Given the description of an element on the screen output the (x, y) to click on. 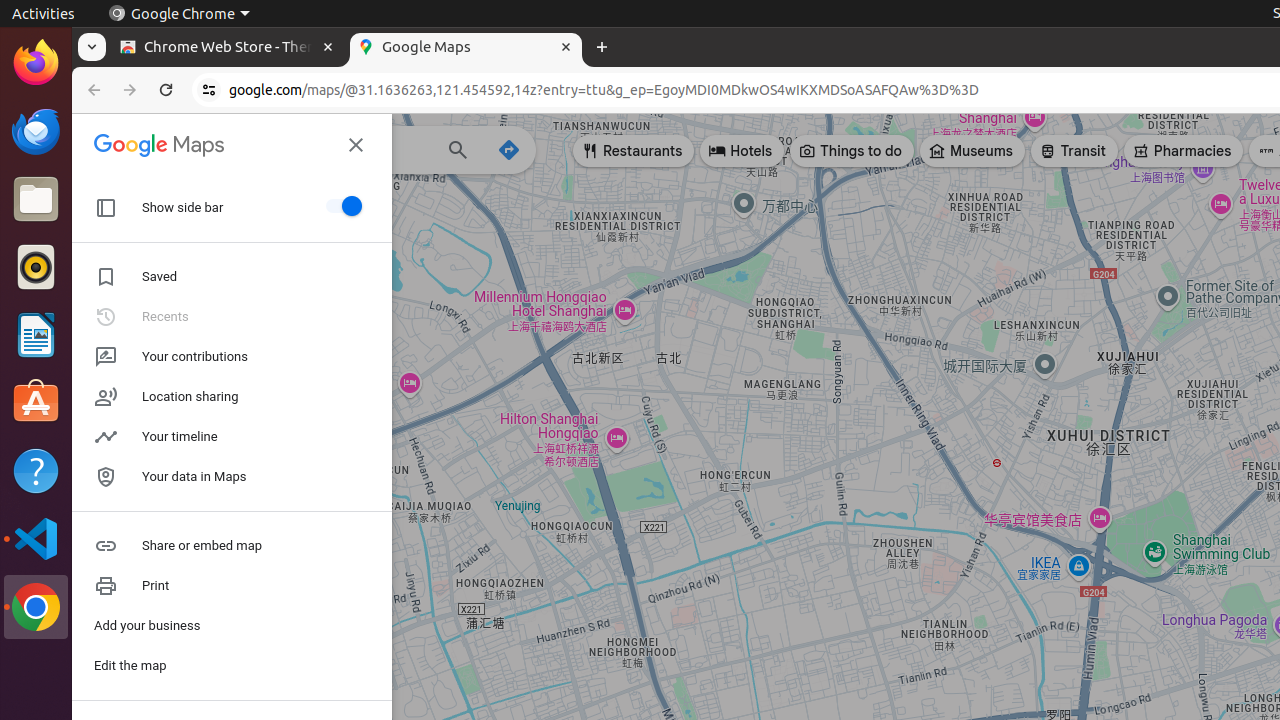
Hotels Element type: push-button (742, 151)
New Tab Element type: push-button (602, 47)
Back Element type: push-button (91, 90)
Things to do Element type: push-button (852, 151)
Recents Element type: menu-item (232, 317)
